Given the description of an element on the screen output the (x, y) to click on. 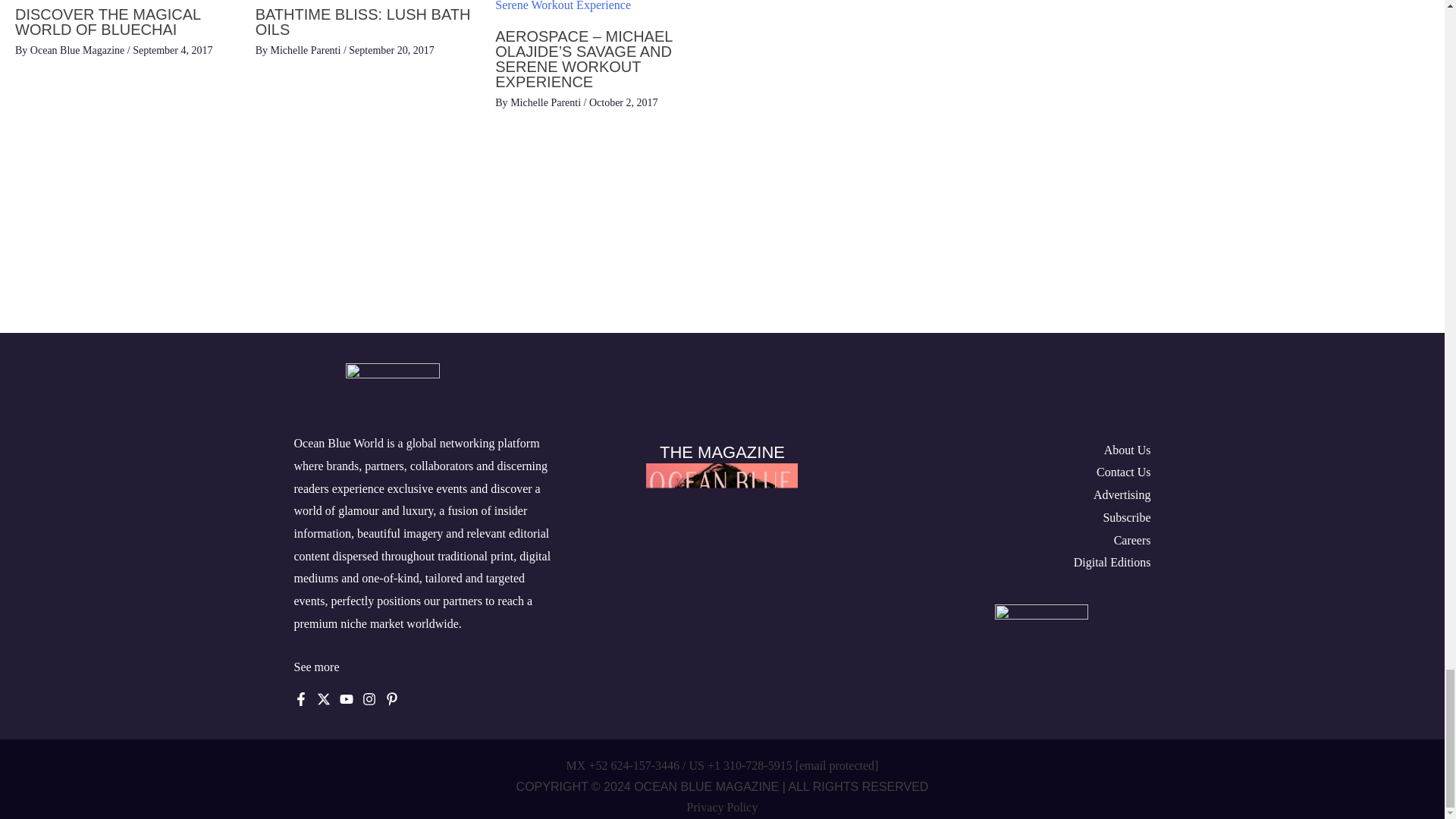
View all posts by Ocean Blue Magazine (79, 50)
View all posts by Michelle Parenti (547, 102)
View all posts by Michelle Parenti (305, 50)
